Given the description of an element on the screen output the (x, y) to click on. 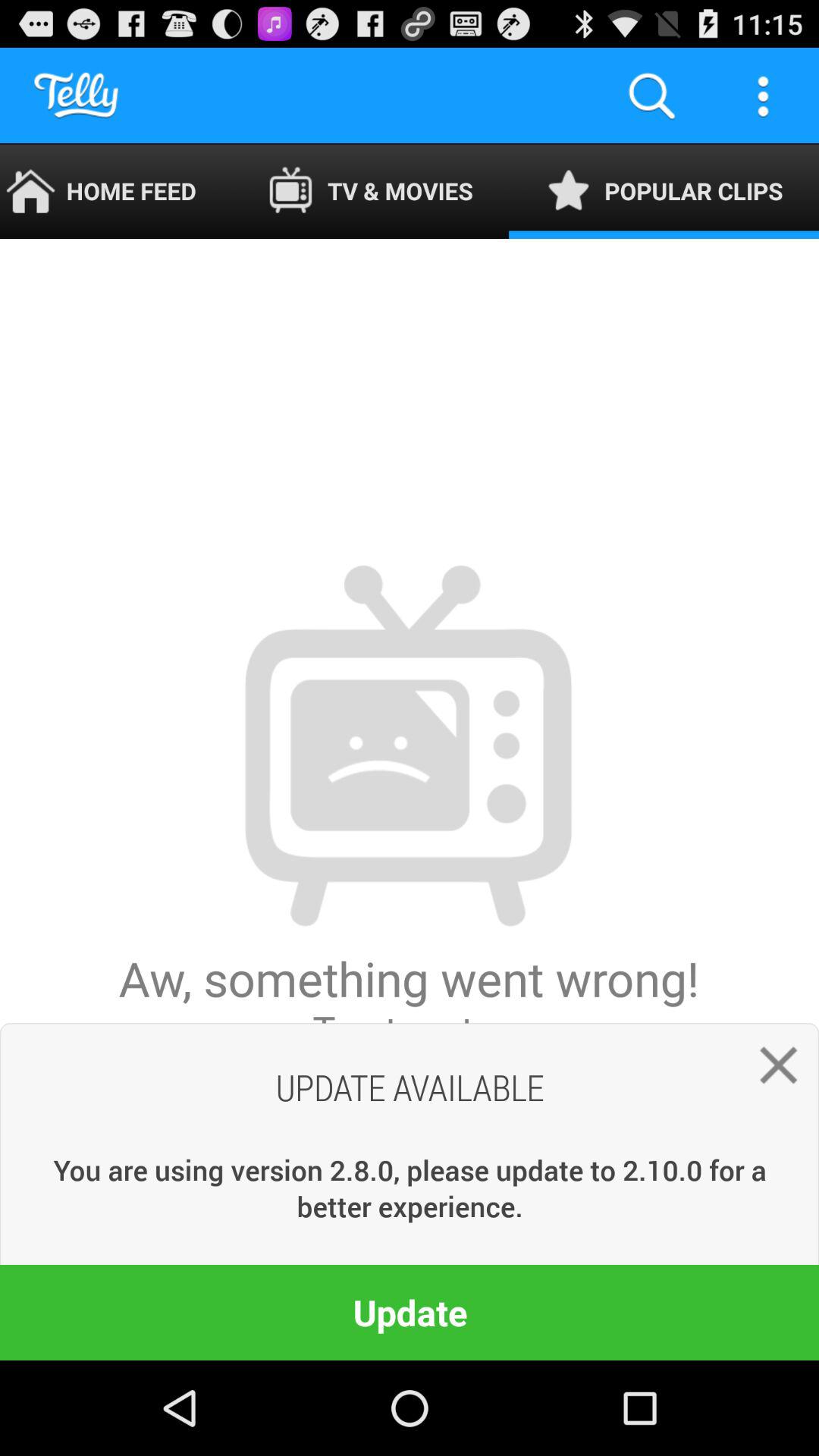
turn on icon next to popular clips (370, 190)
